Given the description of an element on the screen output the (x, y) to click on. 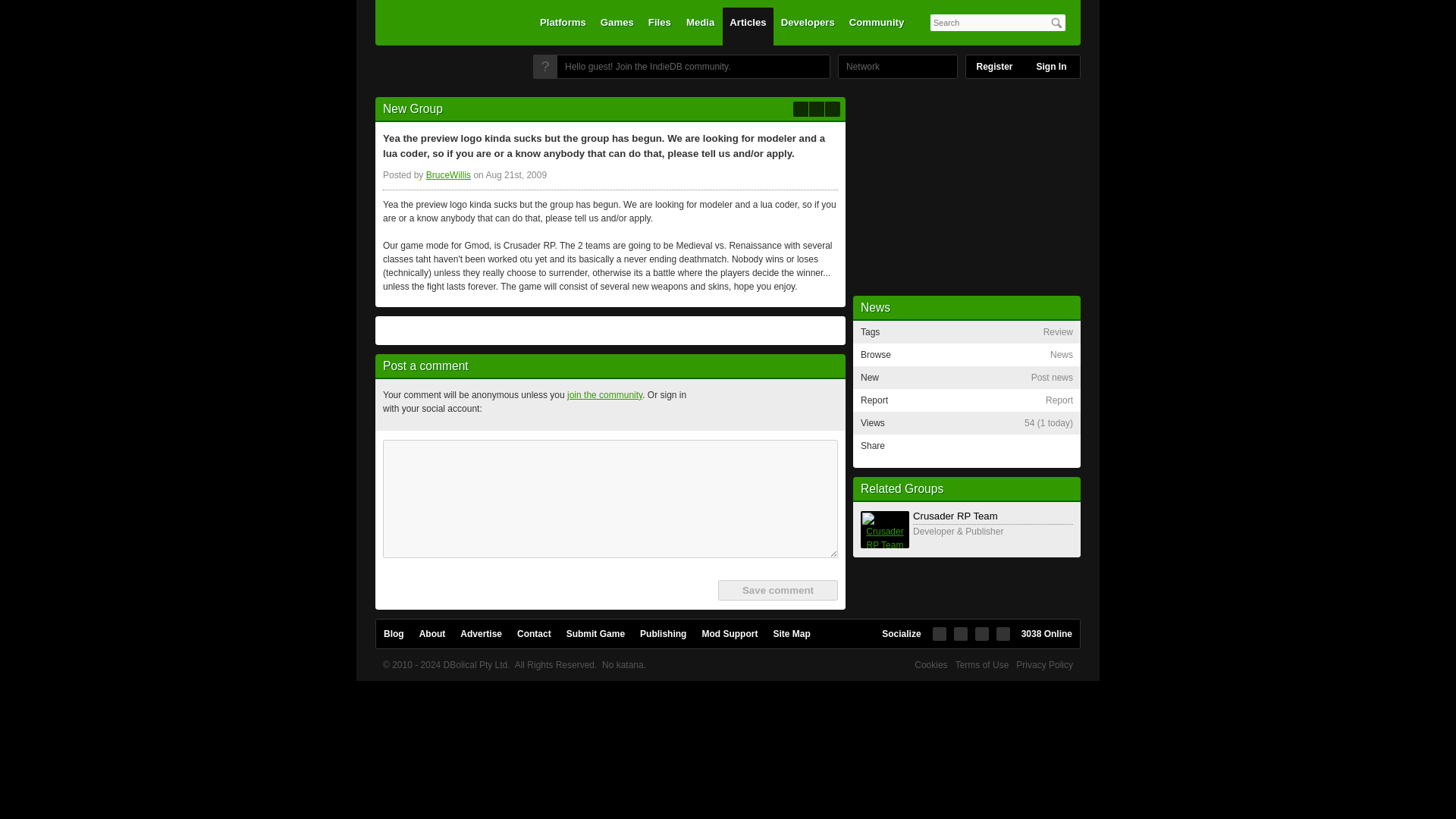
RSS (832, 109)
Search IndieDB (1056, 22)
Articles (747, 26)
Click to connect via Google (786, 404)
Community (877, 26)
Search (1056, 22)
Click to connect via Facebook (713, 404)
Share on Reddit (1060, 450)
Home (437, 70)
Files (660, 26)
